Given the description of an element on the screen output the (x, y) to click on. 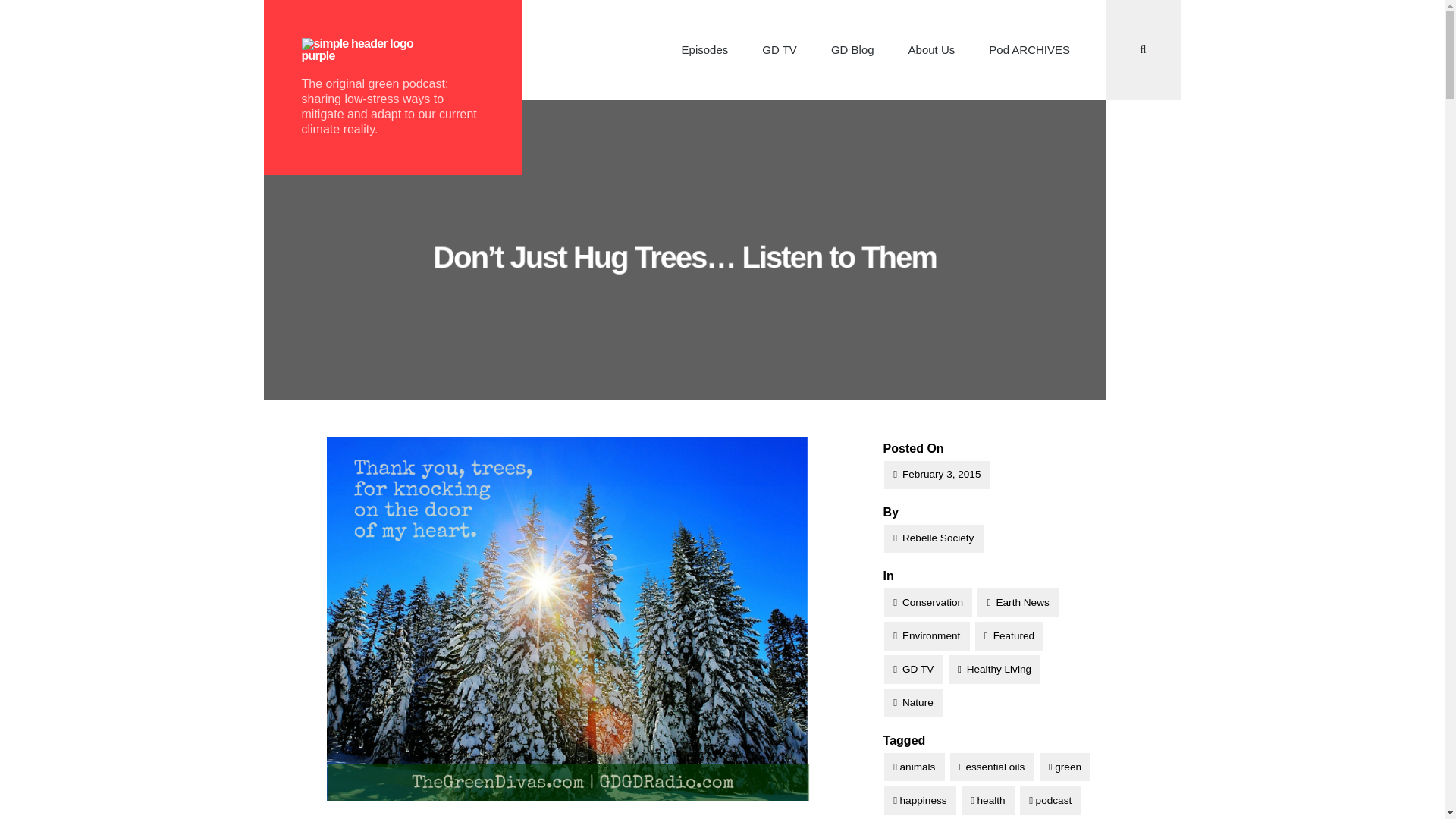
Episodes (704, 50)
About Us (931, 50)
GD TV (779, 50)
Pod ARCHIVES (1029, 50)
GD Blog (852, 50)
